Given the description of an element on the screen output the (x, y) to click on. 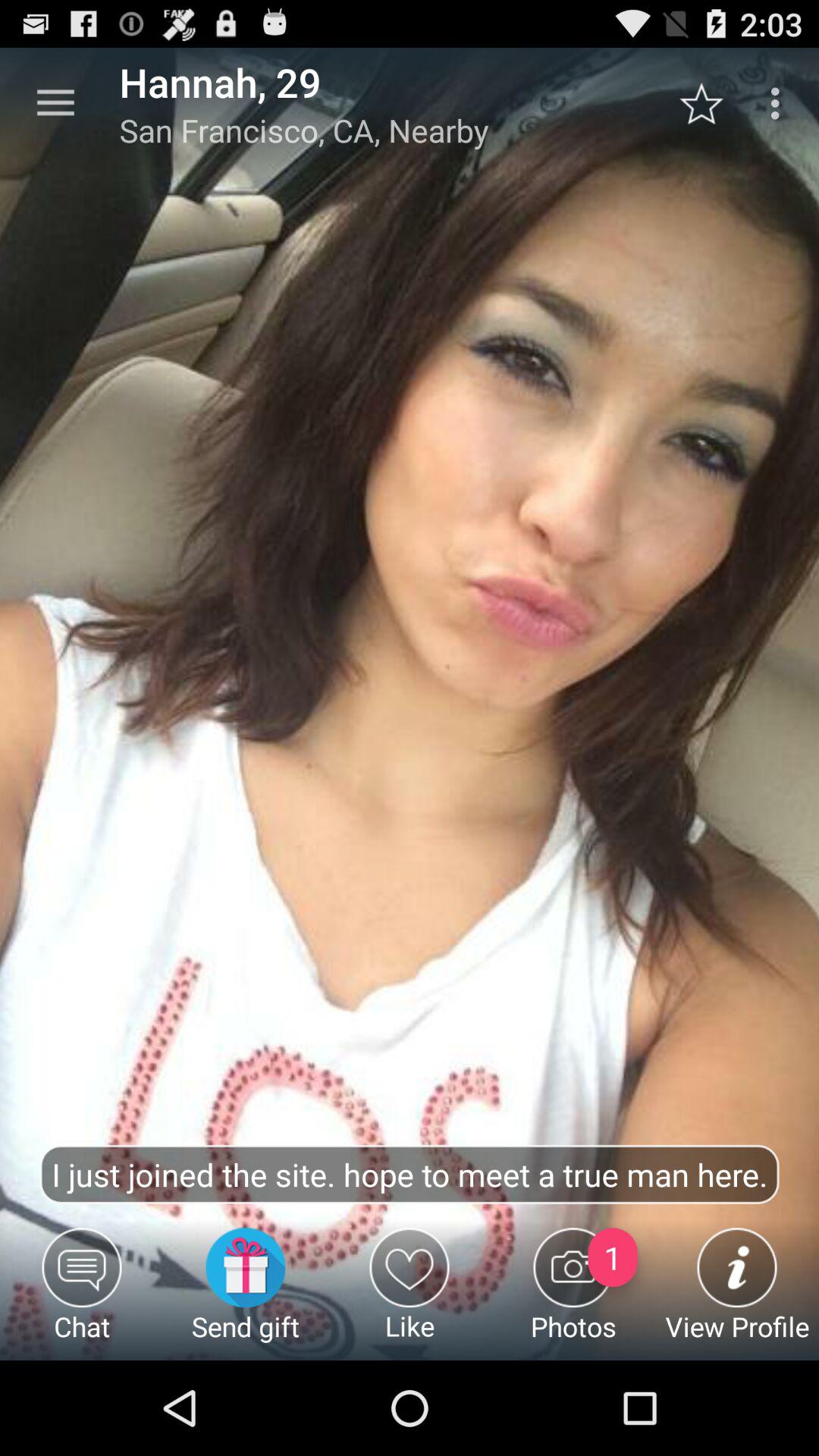
select the item below i just joined (573, 1293)
